Given the description of an element on the screen output the (x, y) to click on. 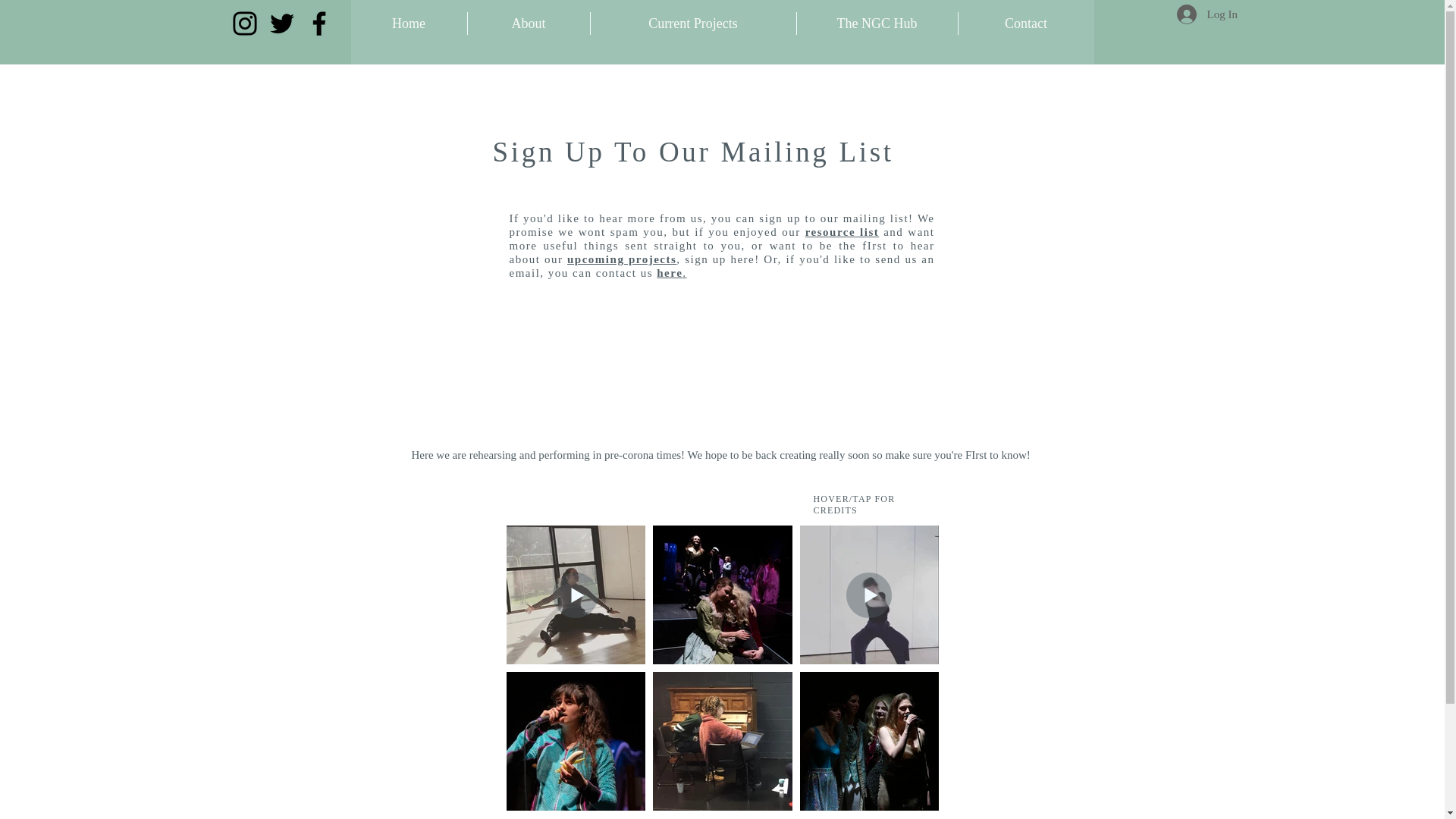
here (669, 272)
upcoming projects (622, 259)
About (528, 23)
Log In (1185, 14)
resource list (842, 232)
Current Projects (691, 23)
Home (407, 23)
The NGC Hub (876, 23)
Contact (1026, 23)
